Given the description of an element on the screen output the (x, y) to click on. 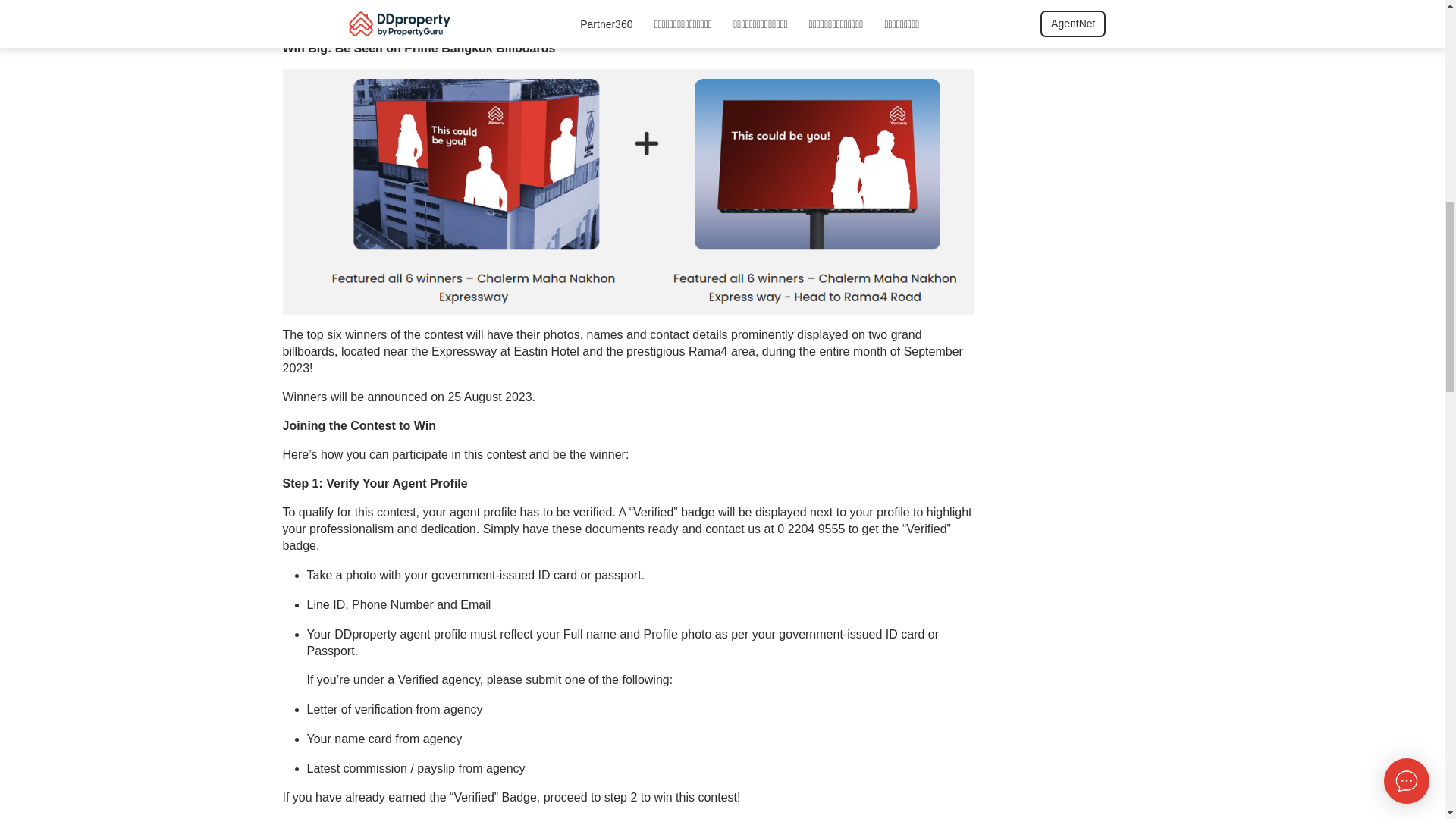
Learn more about Featured Agent (693, 25)
